Given the description of an element on the screen output the (x, y) to click on. 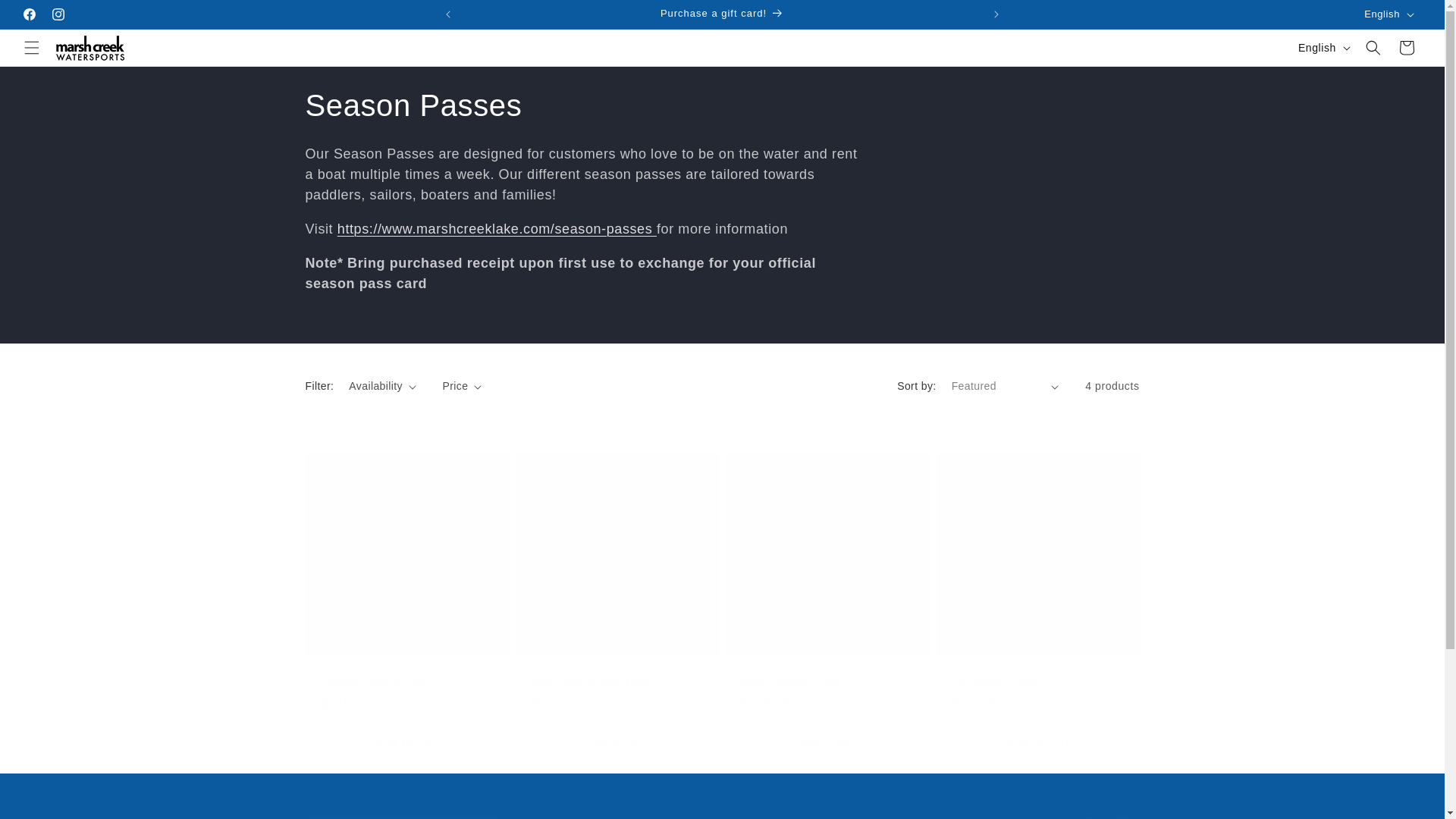
Skip to content (45, 17)
English (1322, 47)
Instagram (721, 812)
Facebook (57, 14)
Cart (28, 14)
Purchase a gift card! (1406, 47)
English (721, 14)
